Given the description of an element on the screen output the (x, y) to click on. 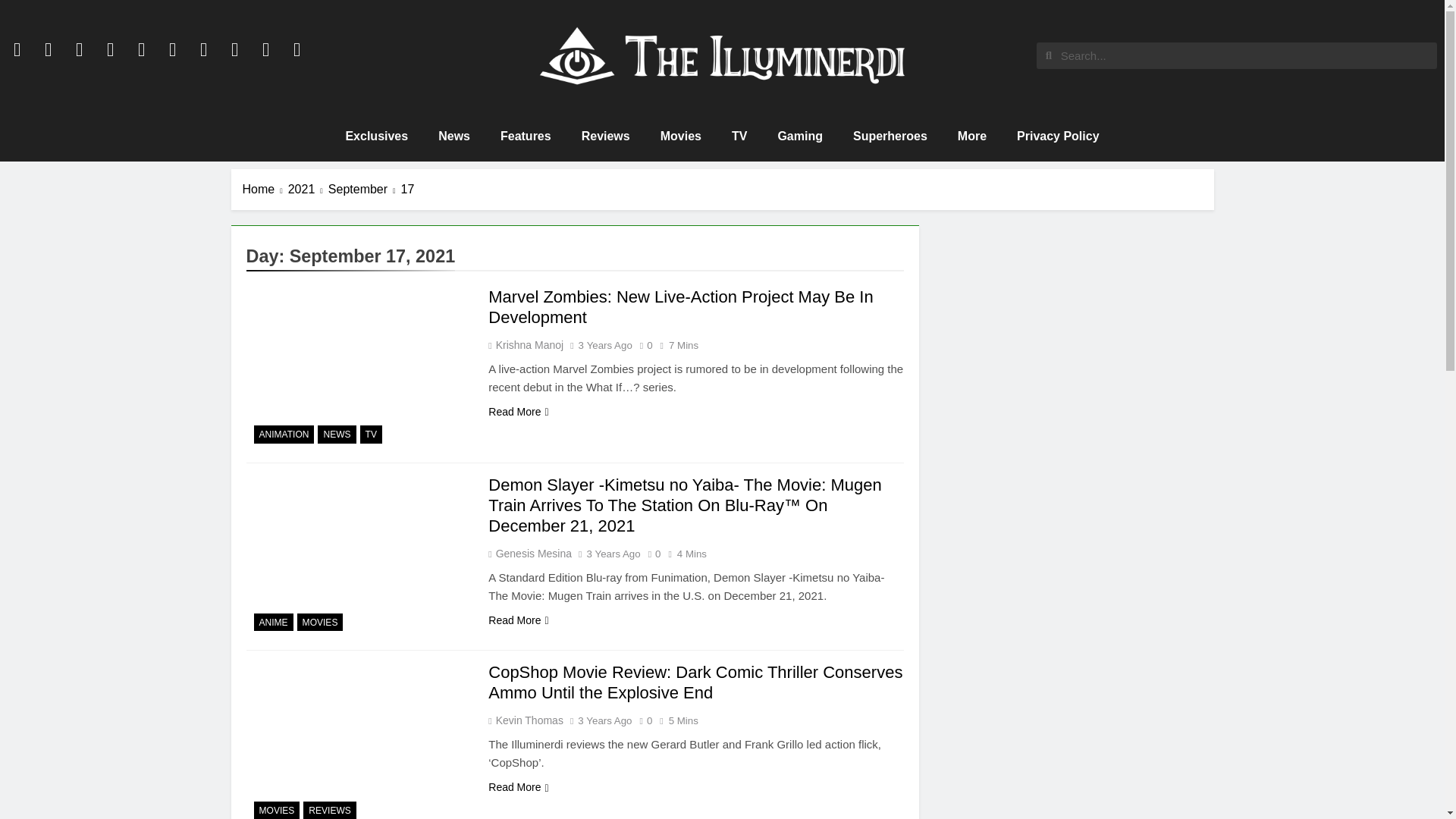
TV (738, 135)
Superheroes (890, 135)
More (971, 135)
Reviews (605, 135)
Privacy Policy (1058, 135)
News (453, 135)
Features (525, 135)
Movies (680, 135)
